Given the description of an element on the screen output the (x, y) to click on. 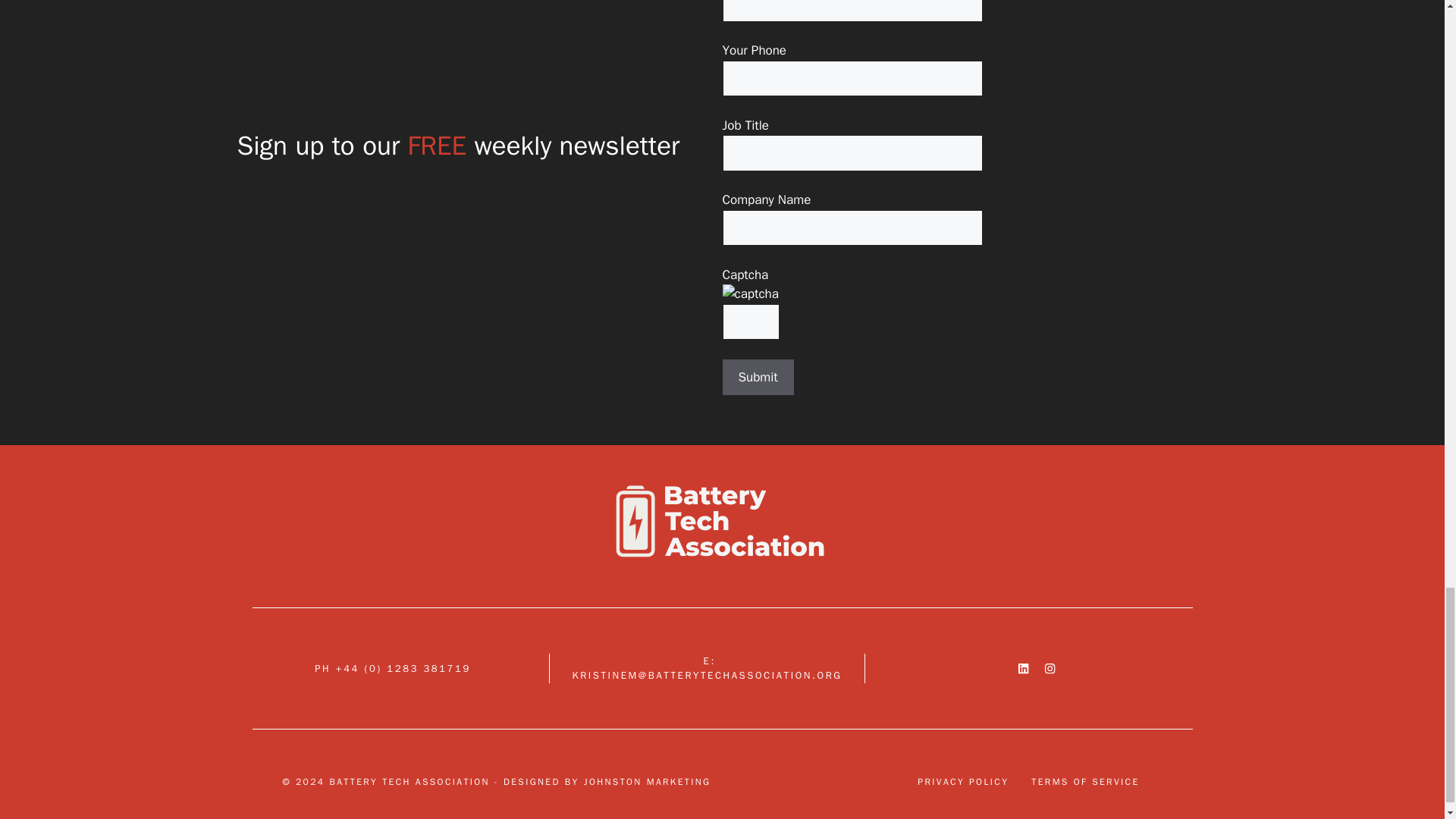
Submit (757, 377)
Submit (757, 377)
JOHNSTON MARKETING (647, 781)
cropped-Original.png (721, 518)
